Given the description of an element on the screen output the (x, y) to click on. 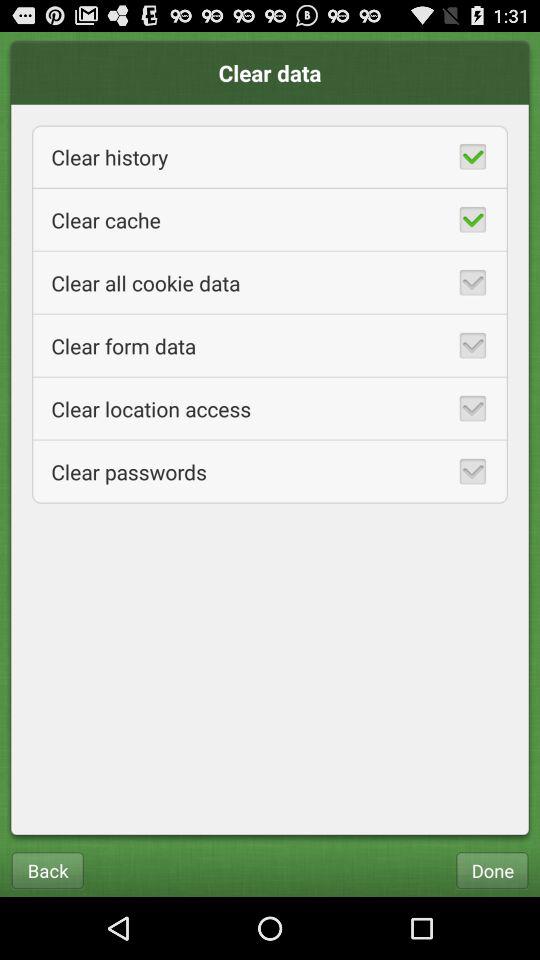
tap the clear passwords app (269, 471)
